Given the description of an element on the screen output the (x, y) to click on. 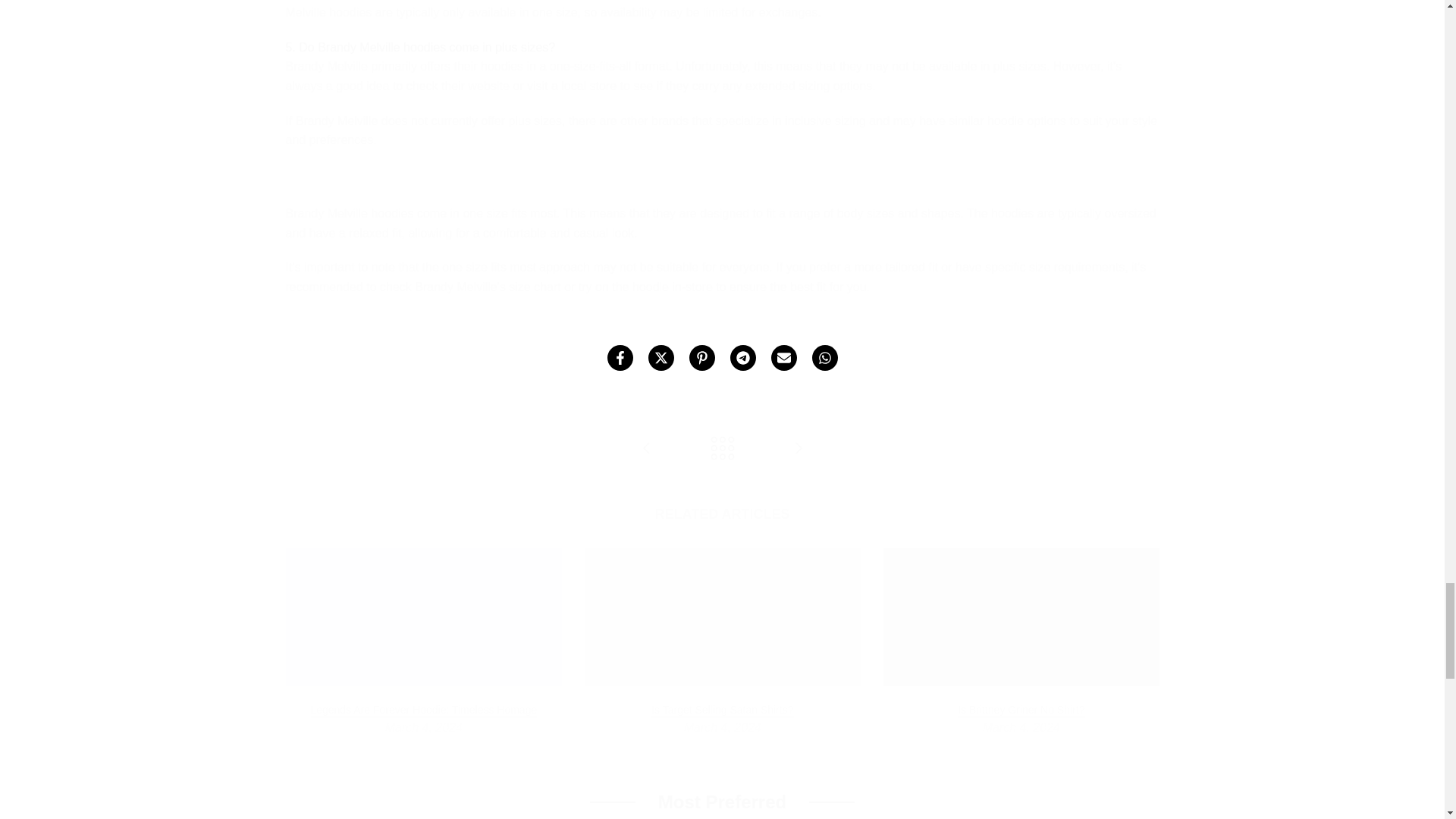
What Size Bape Hoodie Should I Get? (797, 449)
Is Brittney Griner No Shirt? (1021, 710)
Share on Email (783, 357)
What Shoes To Wear With Hoodies? (646, 449)
Share on Facebook (619, 357)
Share on Twitter (659, 357)
Share on WhatsApp (823, 357)
Share on Telegram (742, 357)
Is Target Selling Satan Shirts? (721, 710)
Share on Pinterest (701, 357)
Legends Are Forever Hoodie: Timeless Homage (423, 710)
Back to Tops (722, 449)
